Given the description of an element on the screen output the (x, y) to click on. 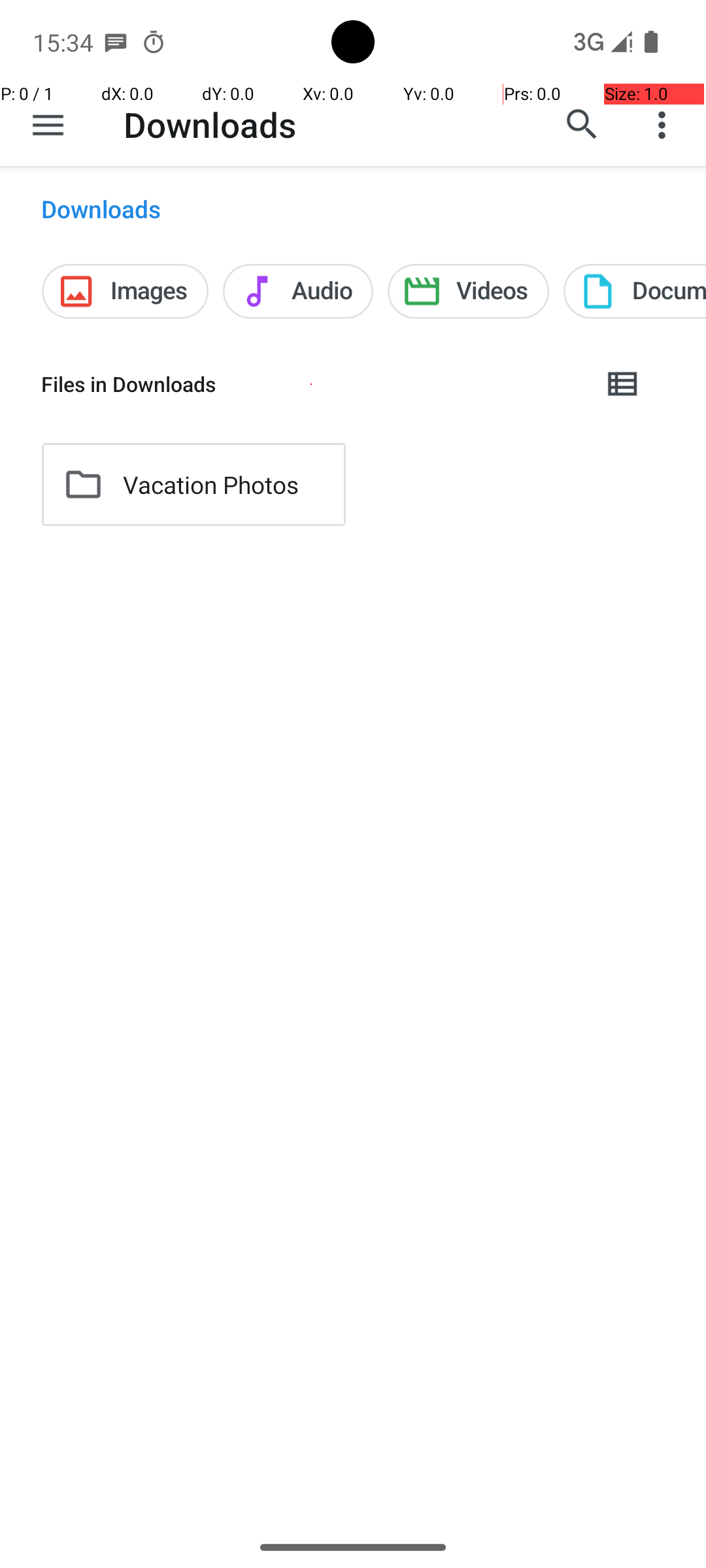
Vacation Photos Element type: android.widget.TextView (210, 484)
